Given the description of an element on the screen output the (x, y) to click on. 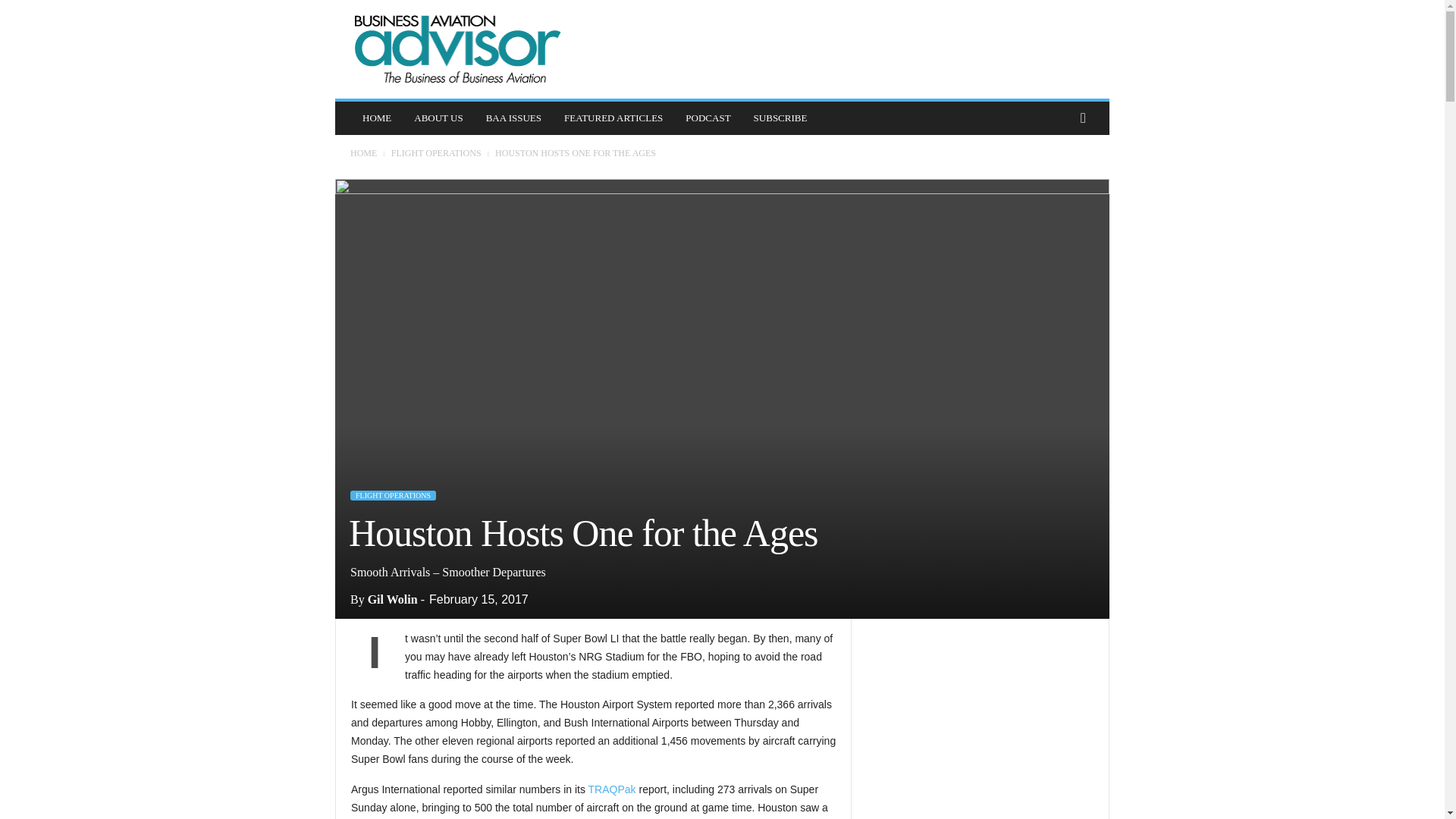
View all posts in Flight Operations (436, 153)
ABOUT US (438, 118)
Business Aviation Advisor Magazine (457, 48)
Business Aviation Advisor Magazine (457, 49)
HOME (376, 118)
